Given the description of an element on the screen output the (x, y) to click on. 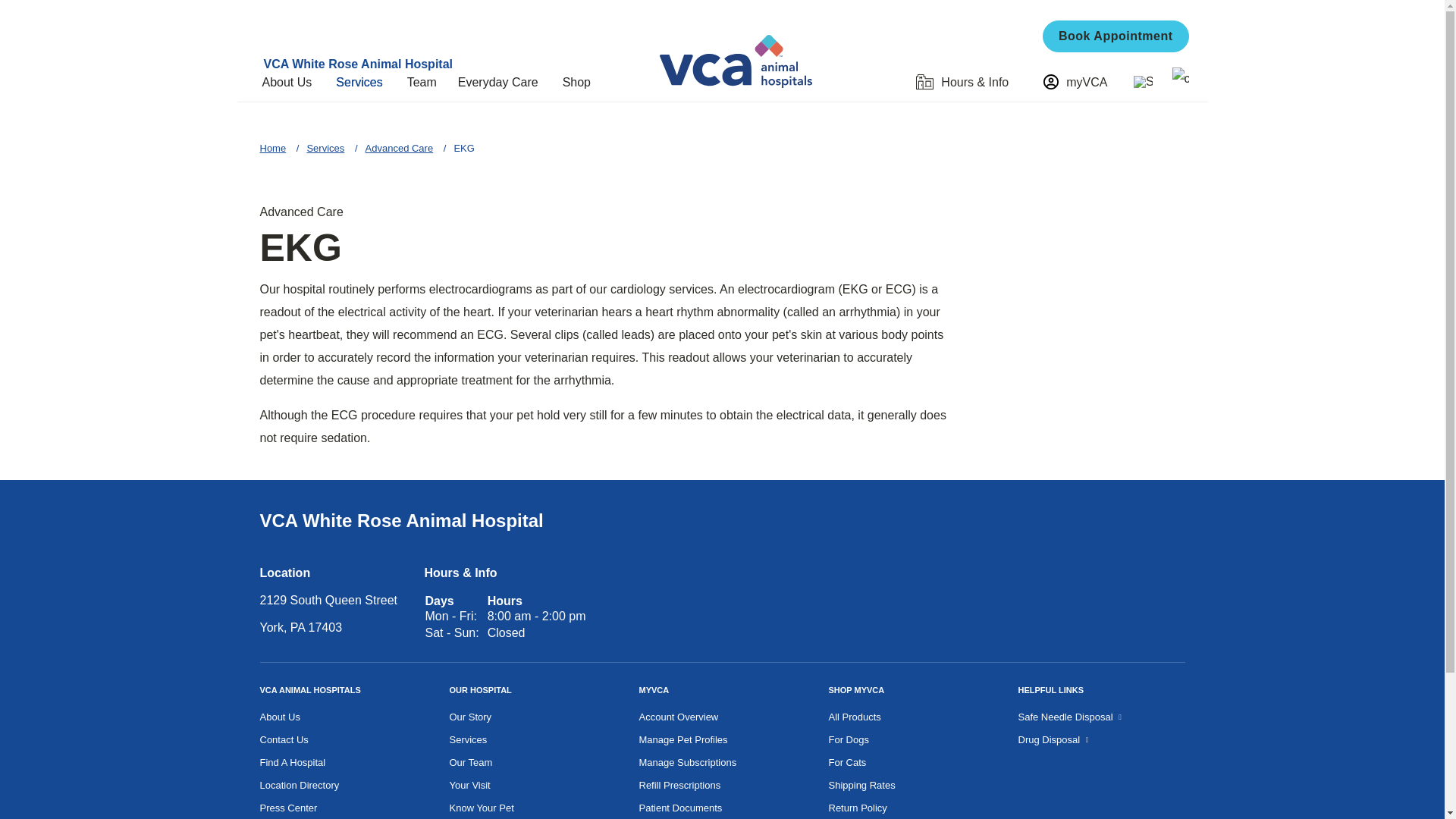
About Us (293, 82)
Services (365, 82)
